Given the description of an element on the screen output the (x, y) to click on. 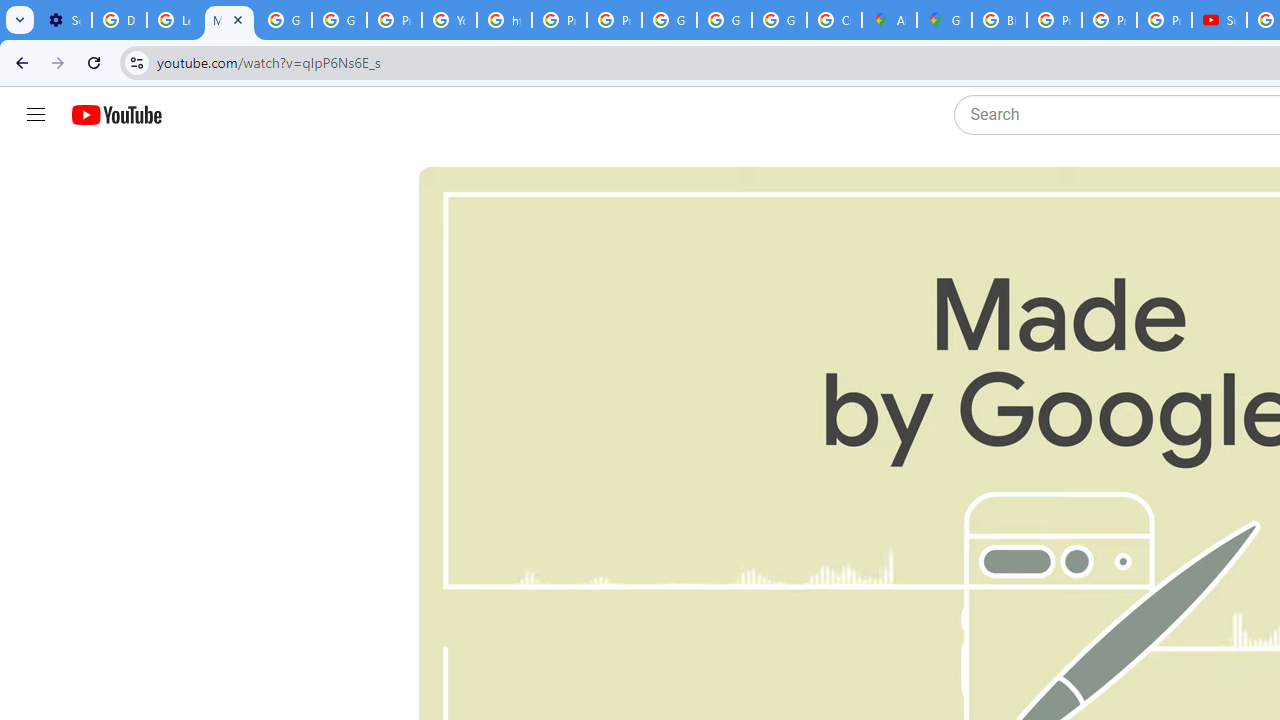
Privacy Help Center - Policies Help (559, 20)
Create your Google Account (833, 20)
YouTube (449, 20)
Learn how to find your photos - Google Photos Help (174, 20)
Subscriptions - YouTube (1218, 20)
Settings - Customize profile (64, 20)
Delete photos & videos - Computer - Google Photos Help (119, 20)
Google Account Help (339, 20)
